Given the description of an element on the screen output the (x, y) to click on. 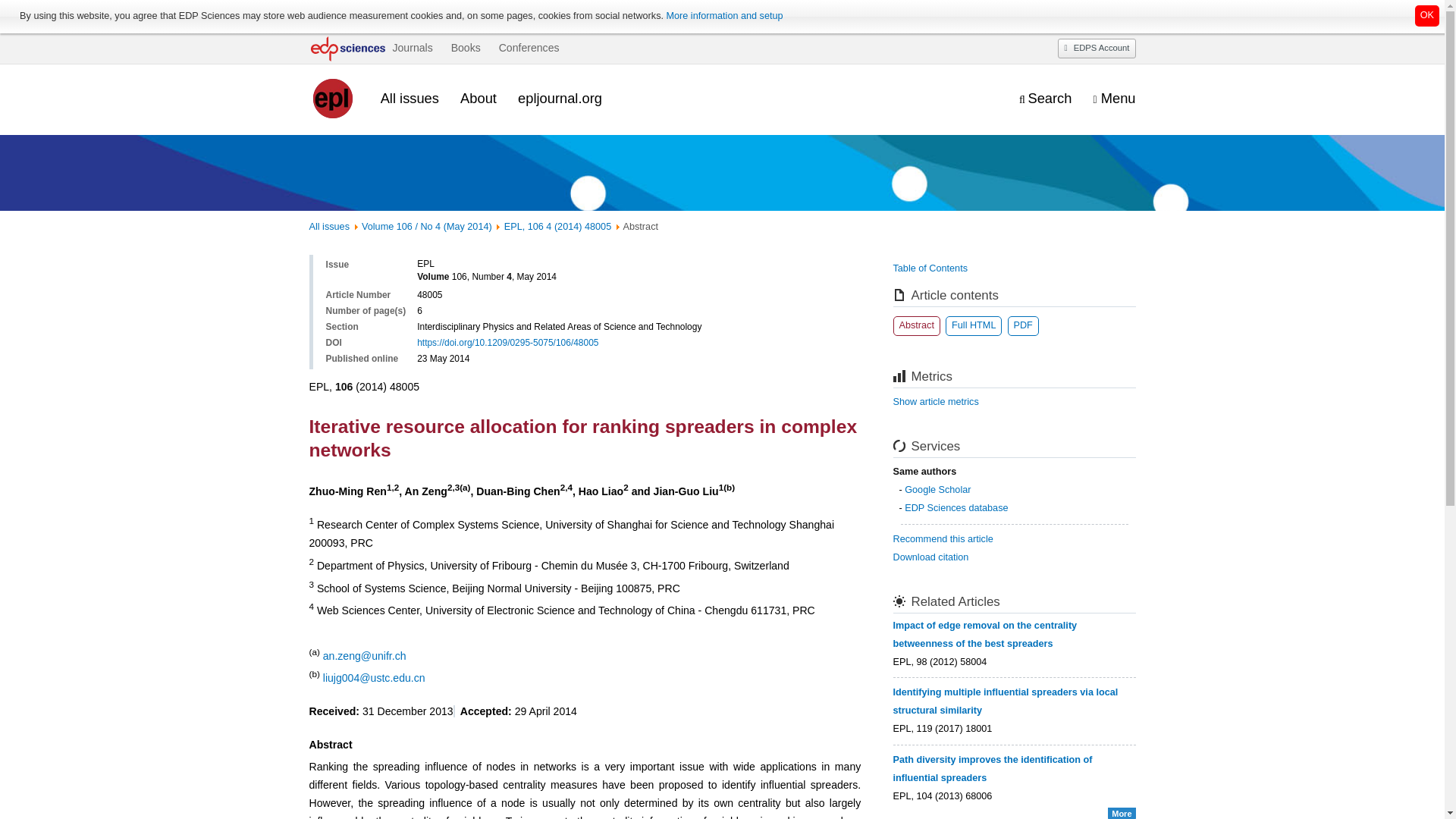
Menu (1114, 98)
Books (465, 47)
More information and setup (724, 15)
About (478, 98)
Display the search engine (1045, 98)
OK (1427, 15)
All issues (328, 226)
Journal homepage (333, 99)
PDF (1022, 325)
epljournal.org (560, 98)
Abstract (916, 325)
Full HTML (972, 325)
All issues (409, 98)
Journals (411, 47)
Conferences (529, 47)
